Given the description of an element on the screen output the (x, y) to click on. 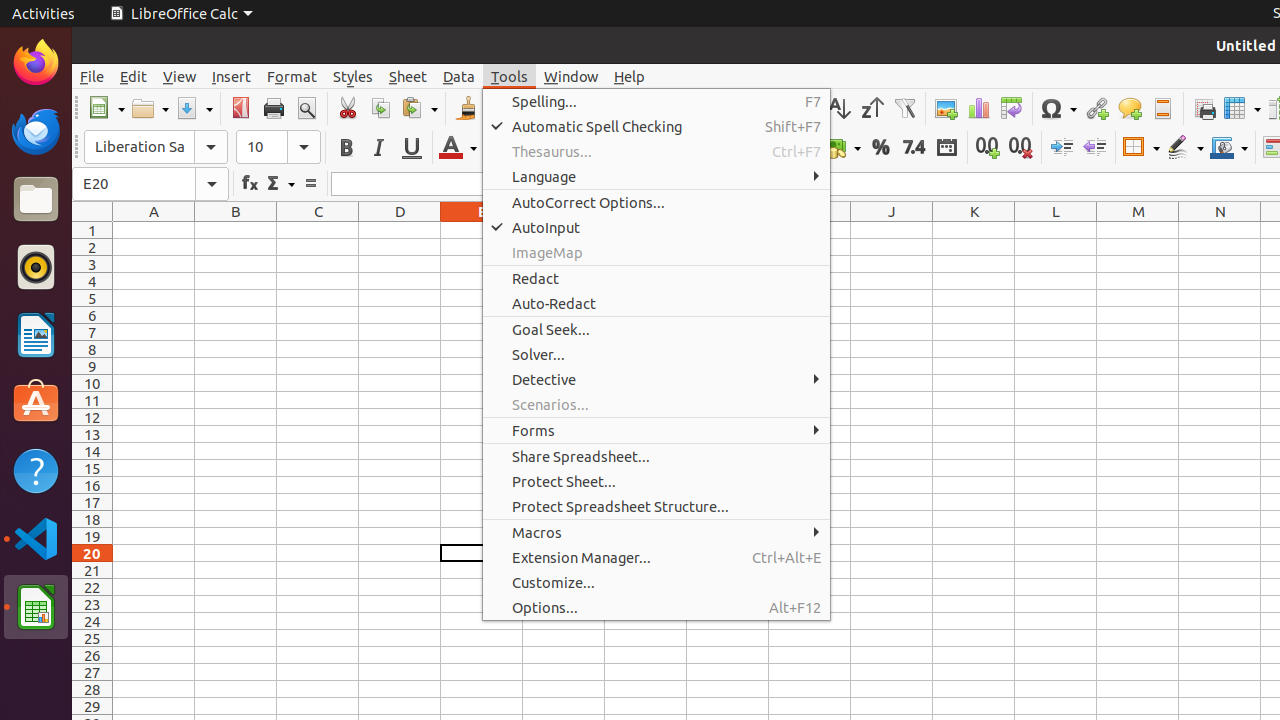
Format Element type: menu (292, 76)
Bold Element type: toggle-button (345, 147)
Customize... Element type: menu-item (656, 582)
Image Element type: push-button (945, 108)
Chart Element type: push-button (978, 108)
